Given the description of an element on the screen output the (x, y) to click on. 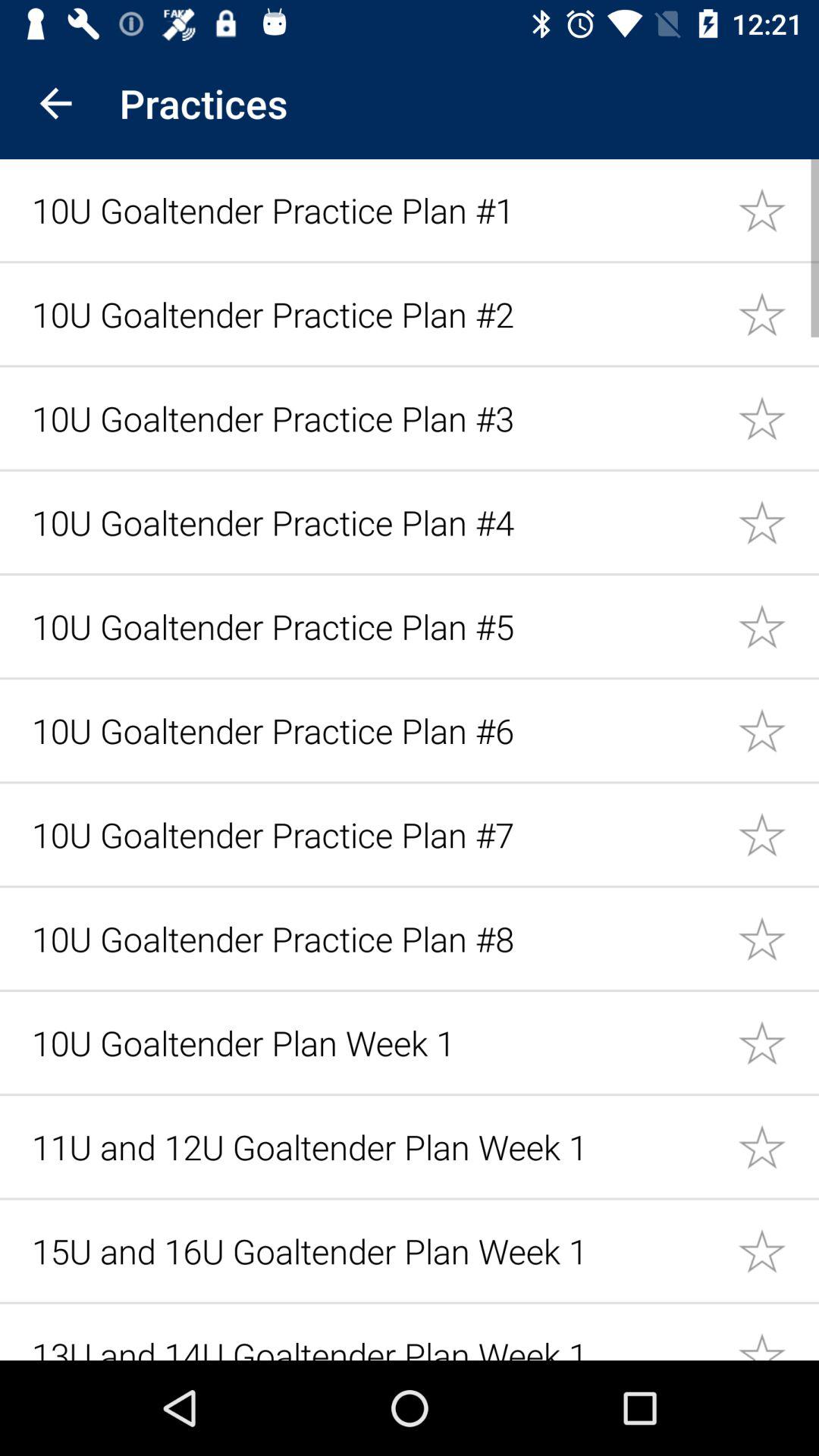
add favorite (778, 209)
